Given the description of an element on the screen output the (x, y) to click on. 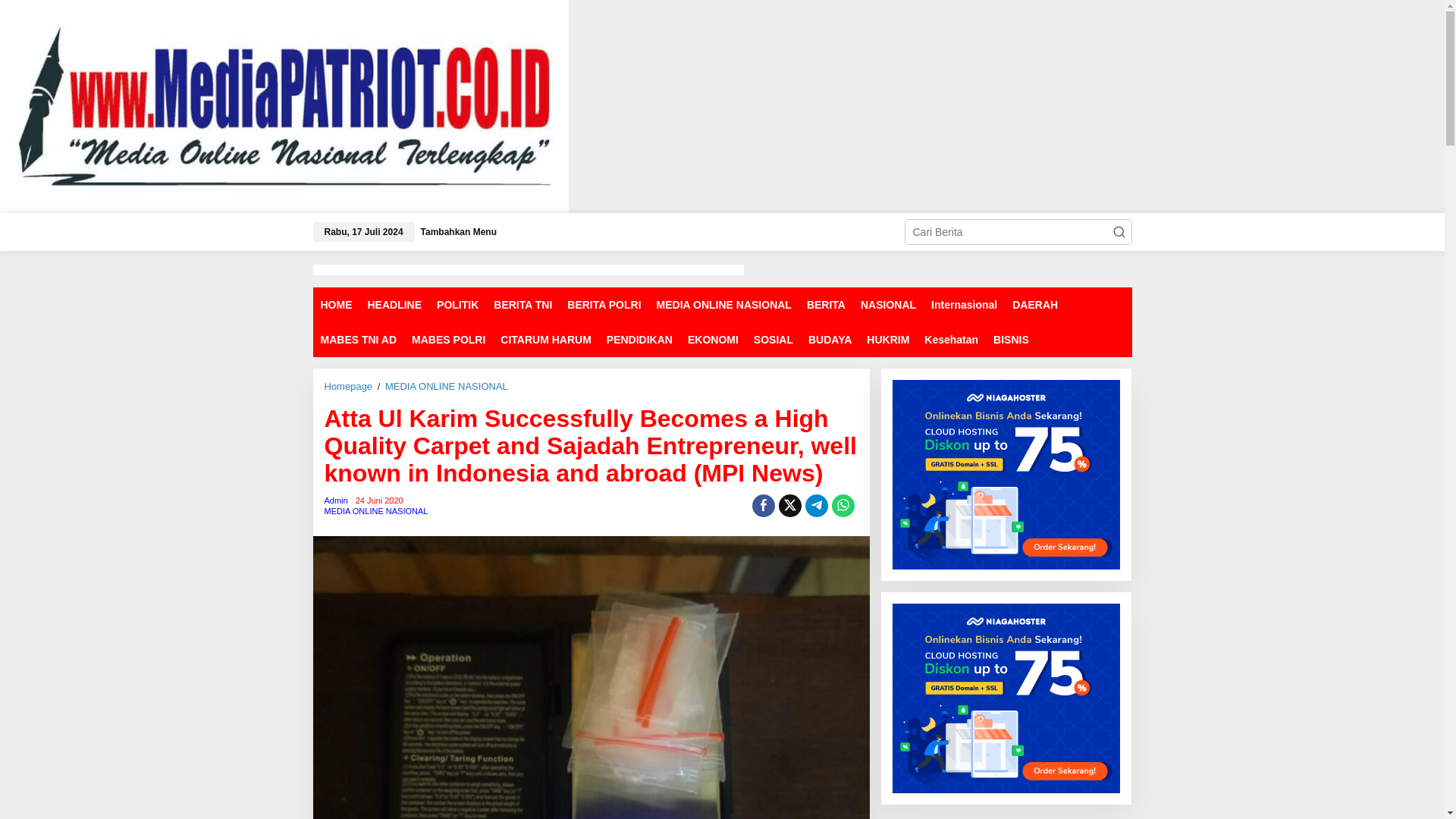
BERITA (826, 304)
Internasional (963, 304)
Tautan ke: Admin (335, 500)
BERITA TNI (522, 304)
CITARUM HARUM (545, 339)
BERITA POLRI (603, 304)
Telegram Share (816, 505)
BUDAYA (829, 339)
BISNIS (1010, 339)
DAERAH (1034, 304)
Admin (335, 500)
HOME (336, 304)
Whatsapp (842, 505)
MEDIA ONLINE NASIONAL (446, 386)
MABES TNI AD (358, 339)
